Given the description of an element on the screen output the (x, y) to click on. 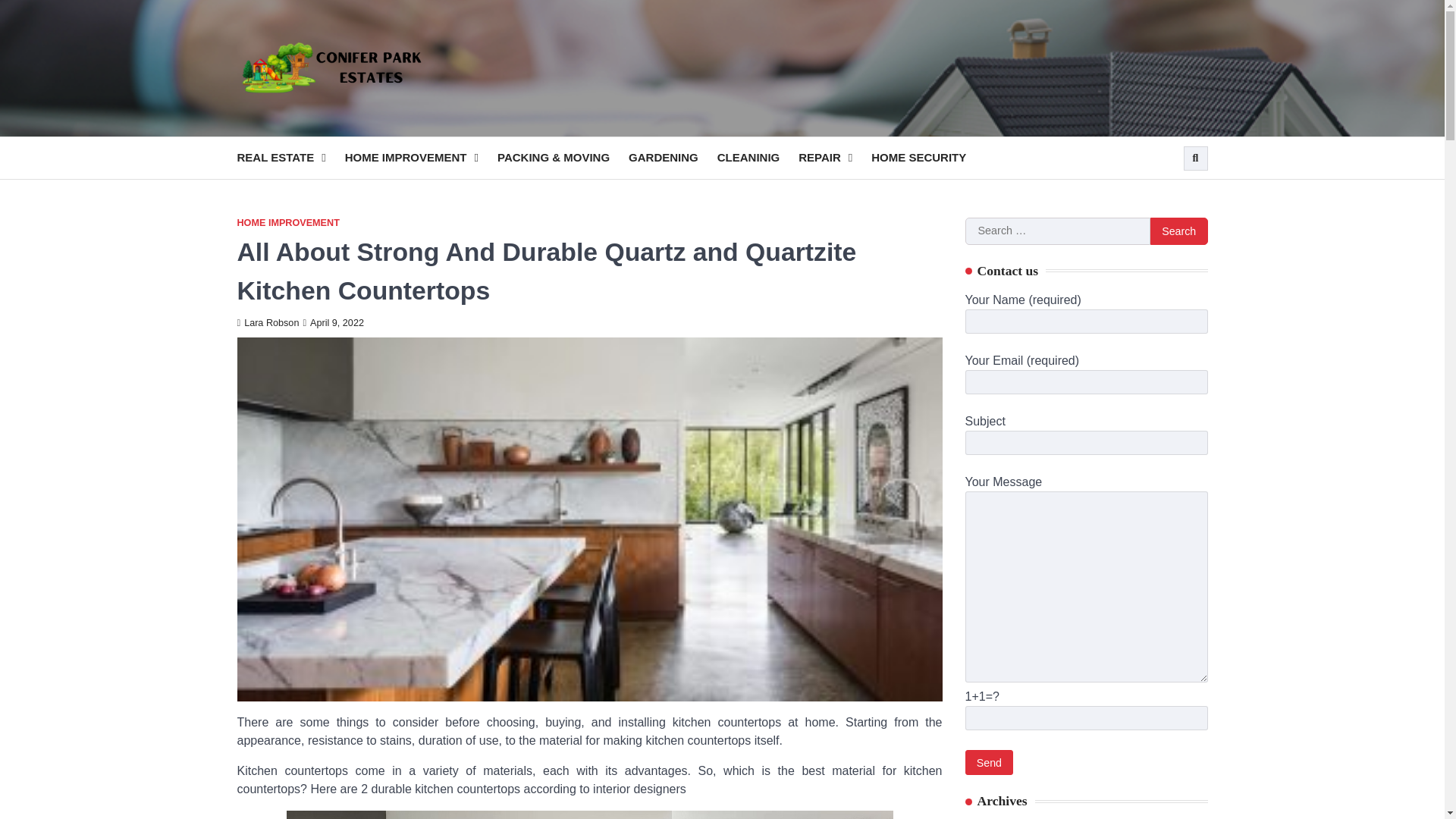
HOME IMPROVEMENT (287, 223)
REAL ESTATE (289, 158)
REPAIR (833, 158)
Lara Robson (266, 322)
HOME IMPROVEMENT (421, 158)
Search (1167, 194)
HOME SECURITY (927, 158)
Send (988, 762)
Search (1179, 230)
April 9, 2022 (333, 322)
Search (1179, 230)
Search (1196, 158)
Search (1179, 230)
Send (988, 762)
GARDENING (672, 158)
